Given the description of an element on the screen output the (x, y) to click on. 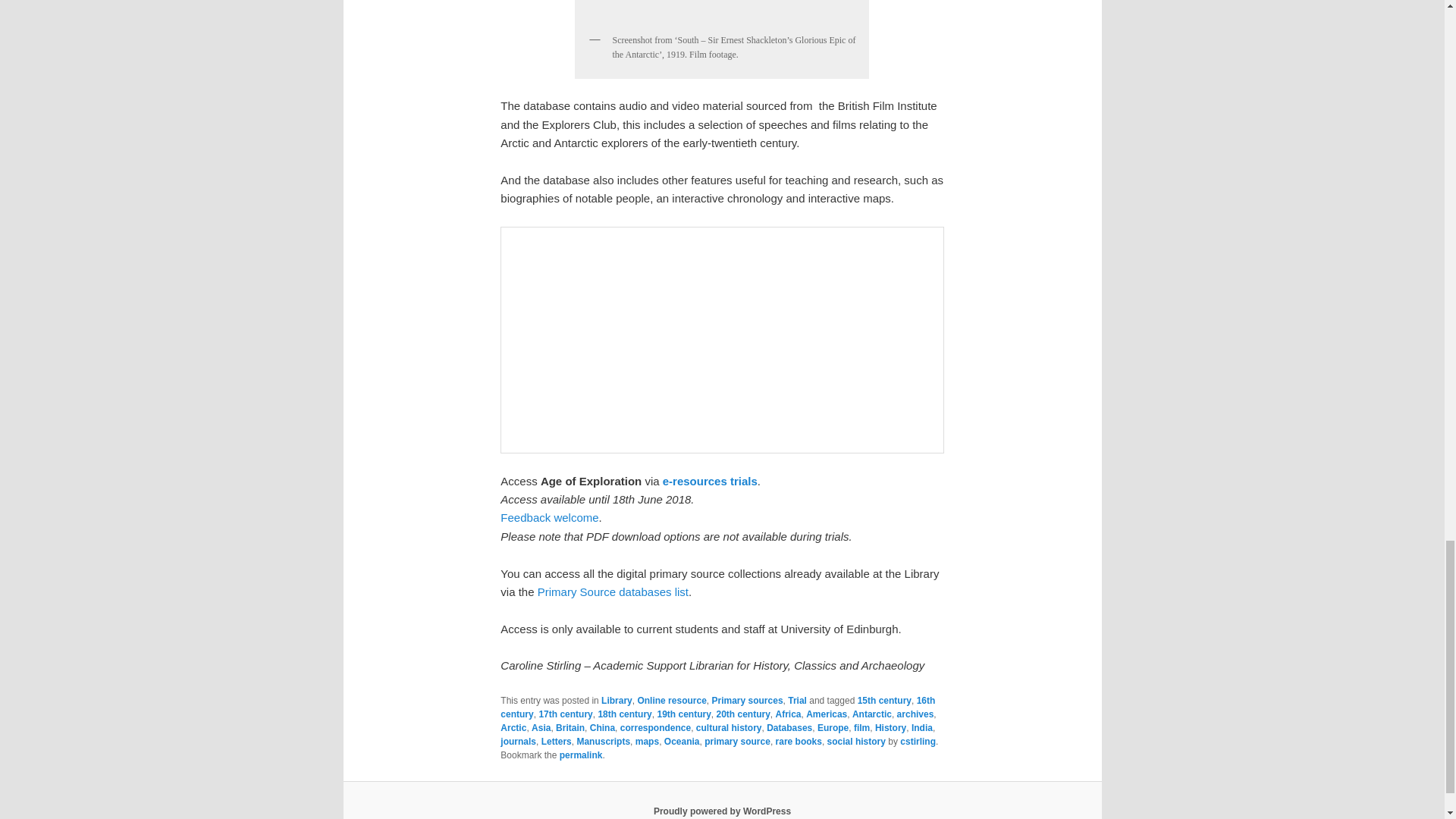
Arctic (512, 727)
Databases (789, 727)
Trial (796, 700)
Americas (826, 714)
History (890, 727)
15th century (884, 700)
Antarctic (871, 714)
Permalink to On trial: The Age of Exploration (580, 755)
correspondence (655, 727)
archives (915, 714)
